Given the description of an element on the screen output the (x, y) to click on. 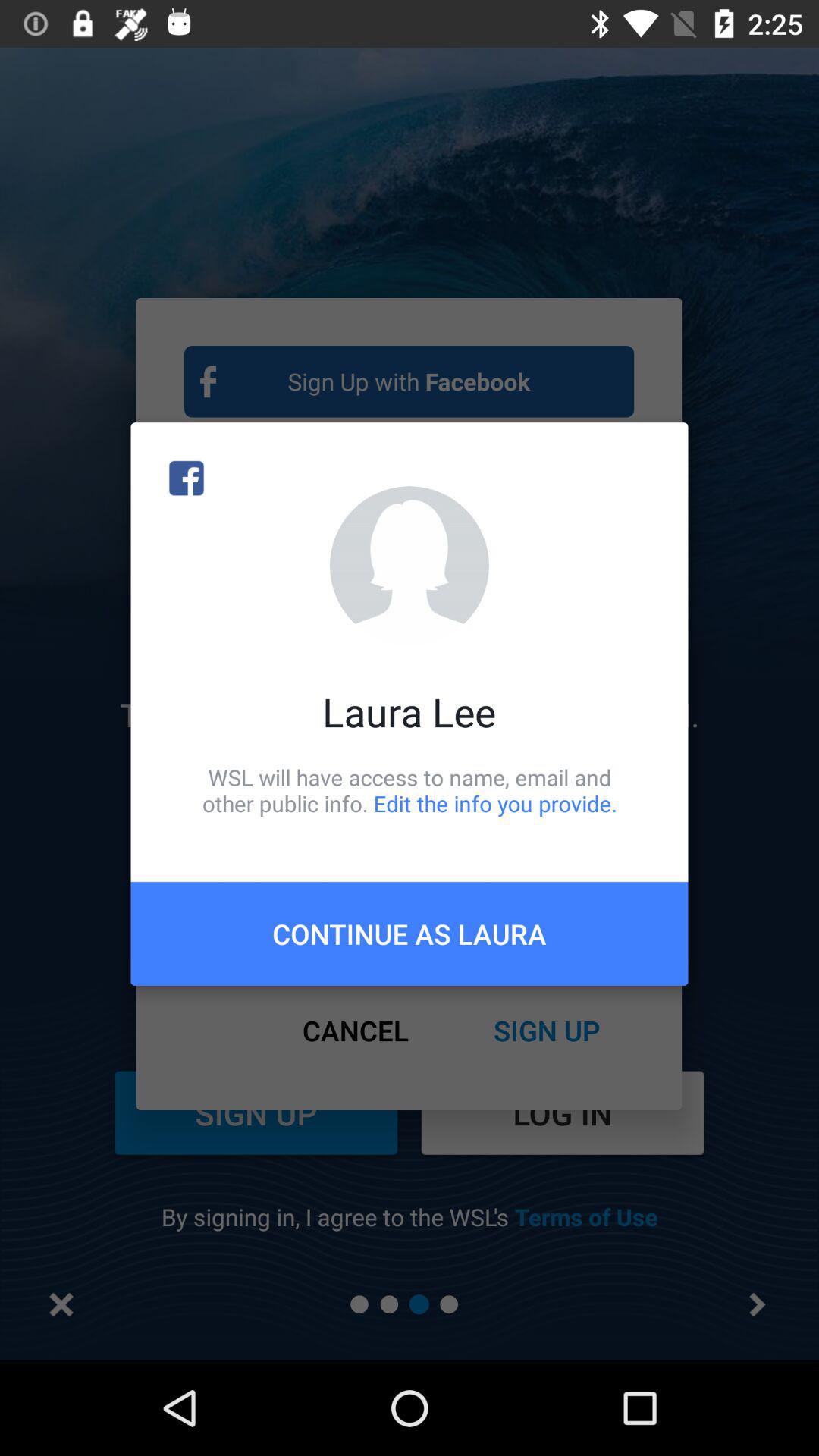
open item below laura lee (409, 790)
